Given the description of an element on the screen output the (x, y) to click on. 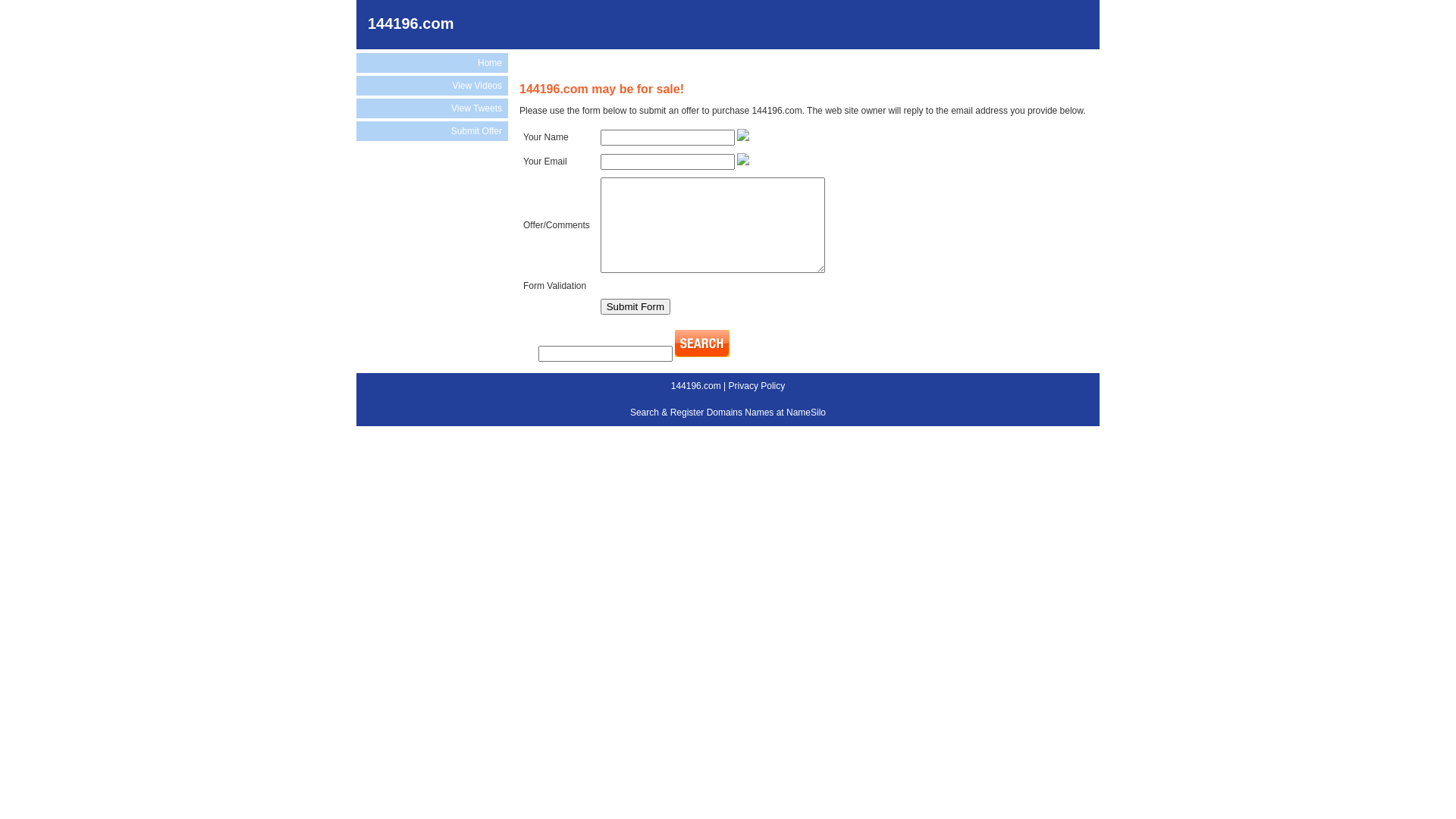
Submit Form Element type: text (635, 306)
Home Element type: text (432, 62)
Search & Register Domains Names at NameSilo Element type: text (727, 412)
View Videos Element type: text (432, 85)
Privacy Policy Element type: text (756, 385)
View Tweets Element type: text (432, 108)
Submit Offer Element type: text (432, 131)
